Given the description of an element on the screen output the (x, y) to click on. 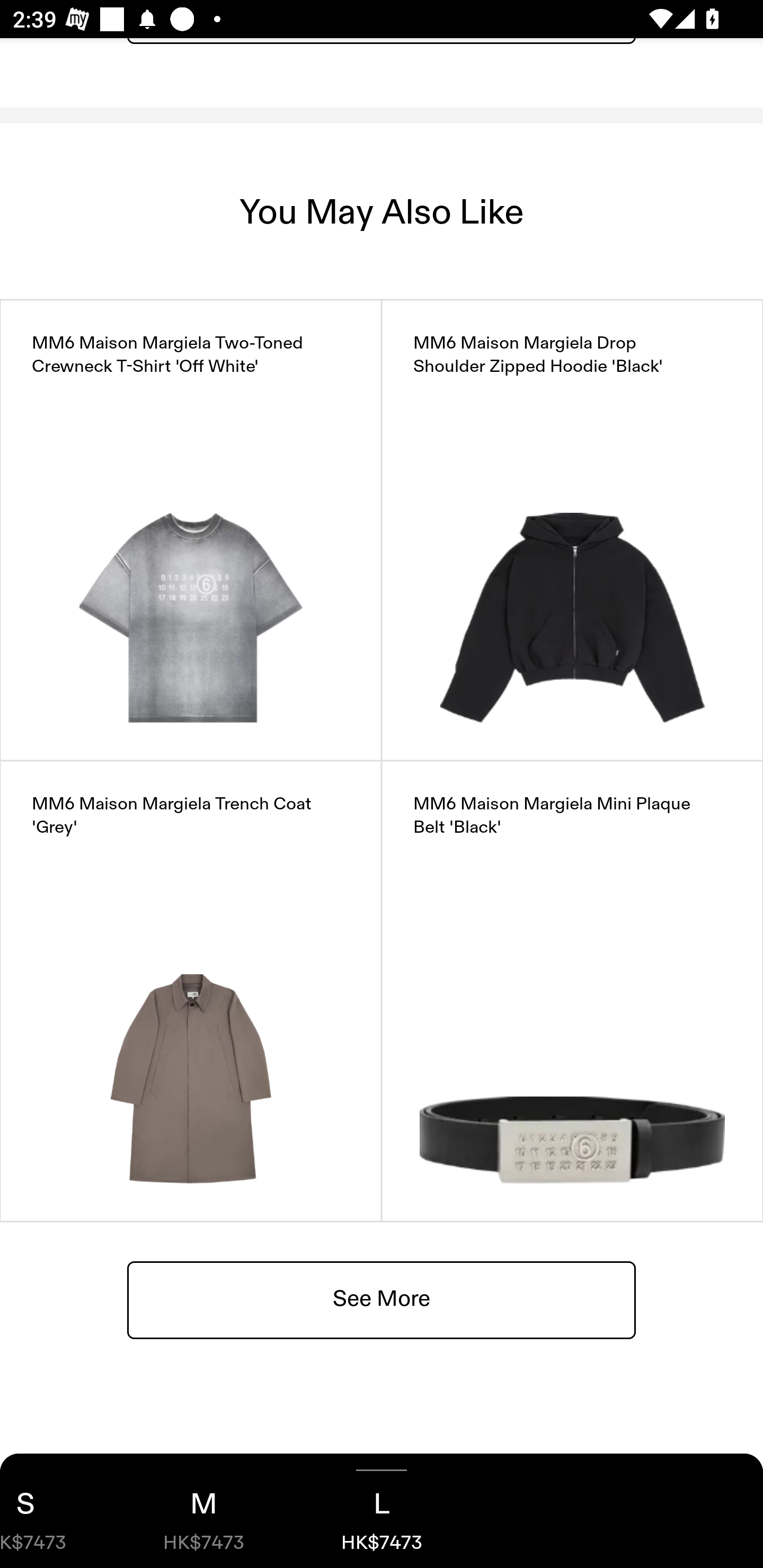
MM6 Maison Margiela Trench Coat 'Grey' (190, 990)
MM6 Maison Margiela Mini Plaque Belt 'Black' (572, 990)
See More (381, 1299)
S HK$7473 (57, 1510)
M HK$7473 (203, 1510)
L HK$7473 (381, 1510)
